Given the description of an element on the screen output the (x, y) to click on. 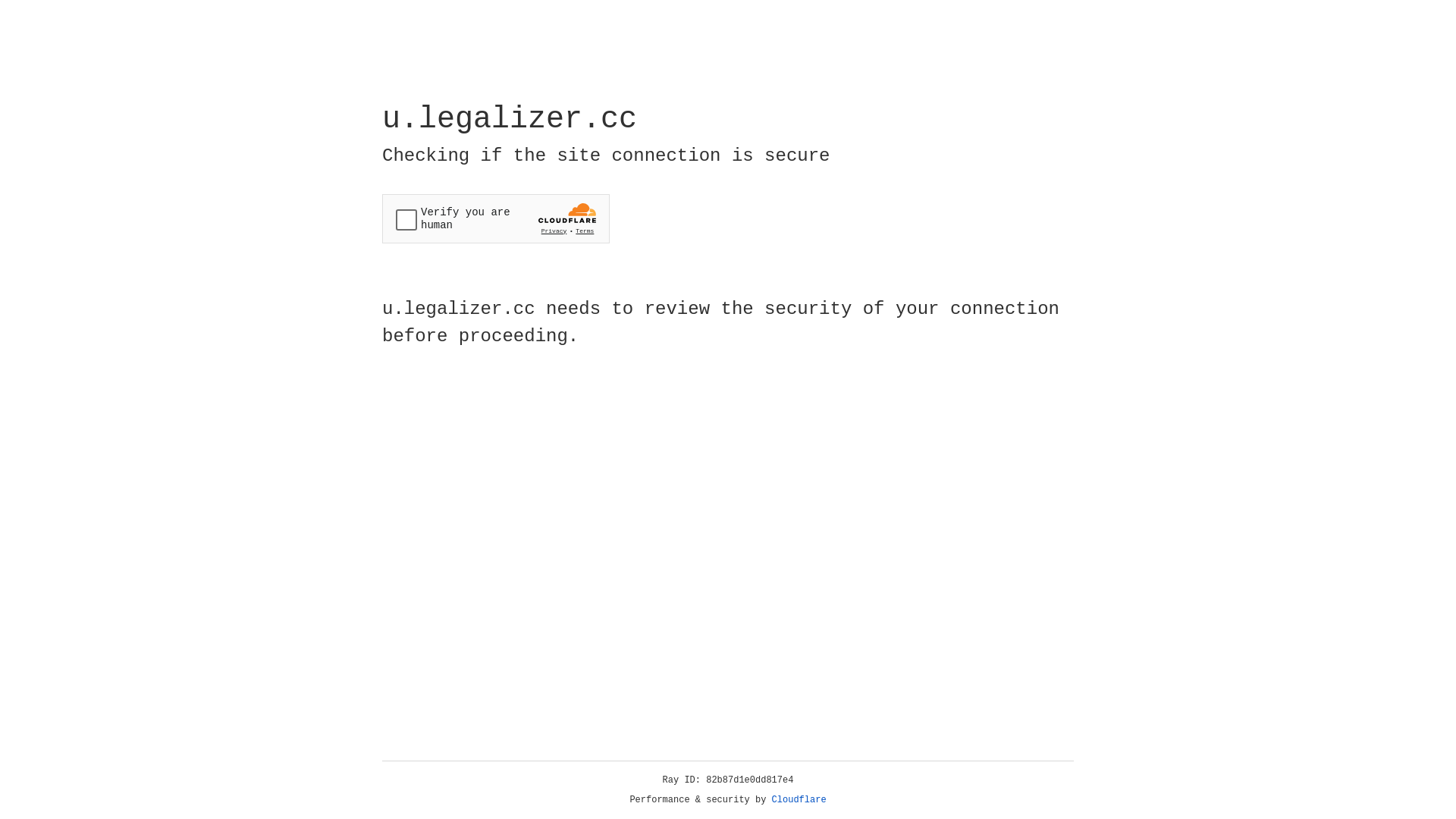
Cloudflare Element type: text (798, 799)
Widget containing a Cloudflare security challenge Element type: hover (495, 218)
